Given the description of an element on the screen output the (x, y) to click on. 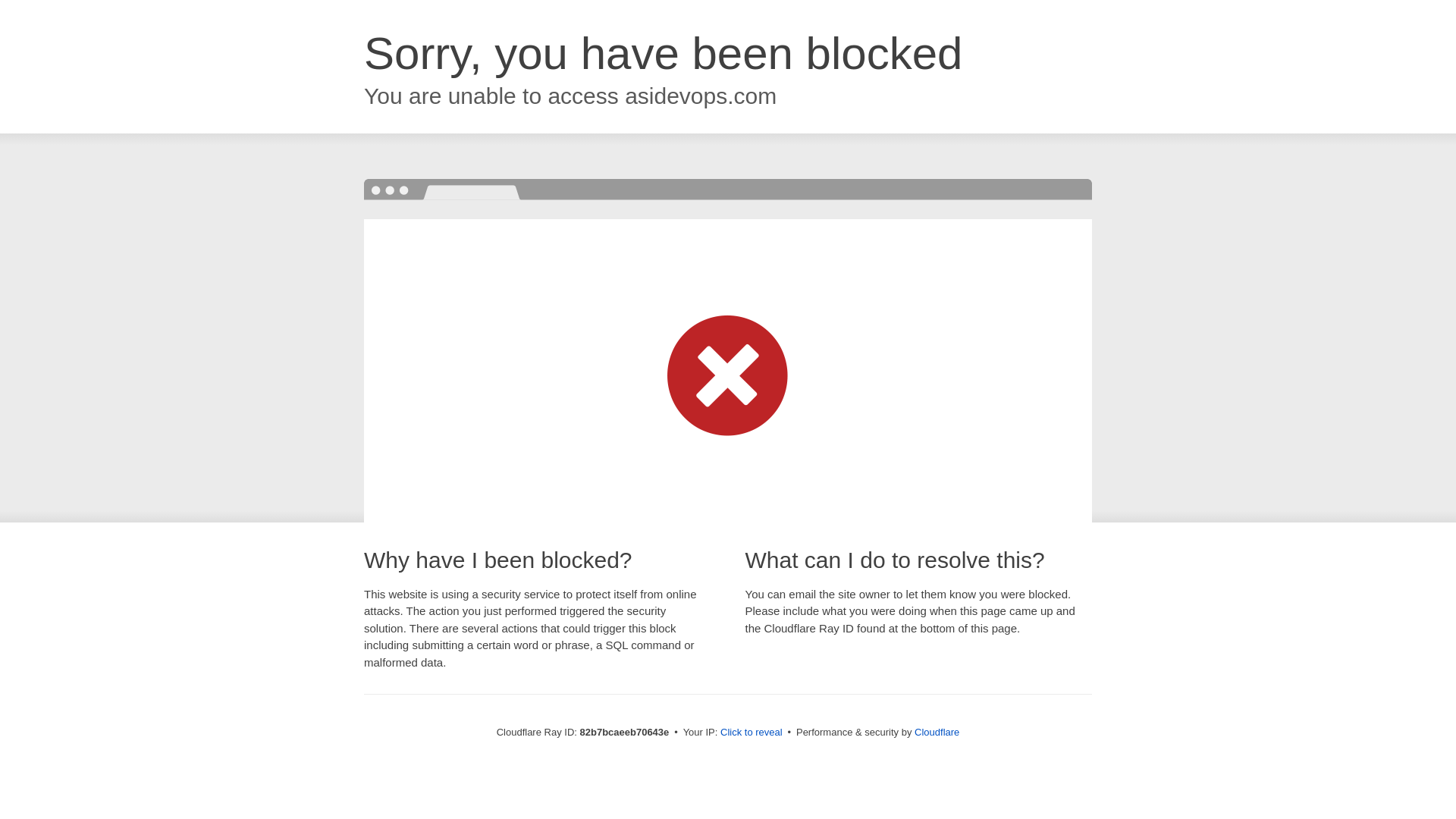
Click to reveal Element type: text (751, 732)
Cloudflare Element type: text (936, 731)
